Given the description of an element on the screen output the (x, y) to click on. 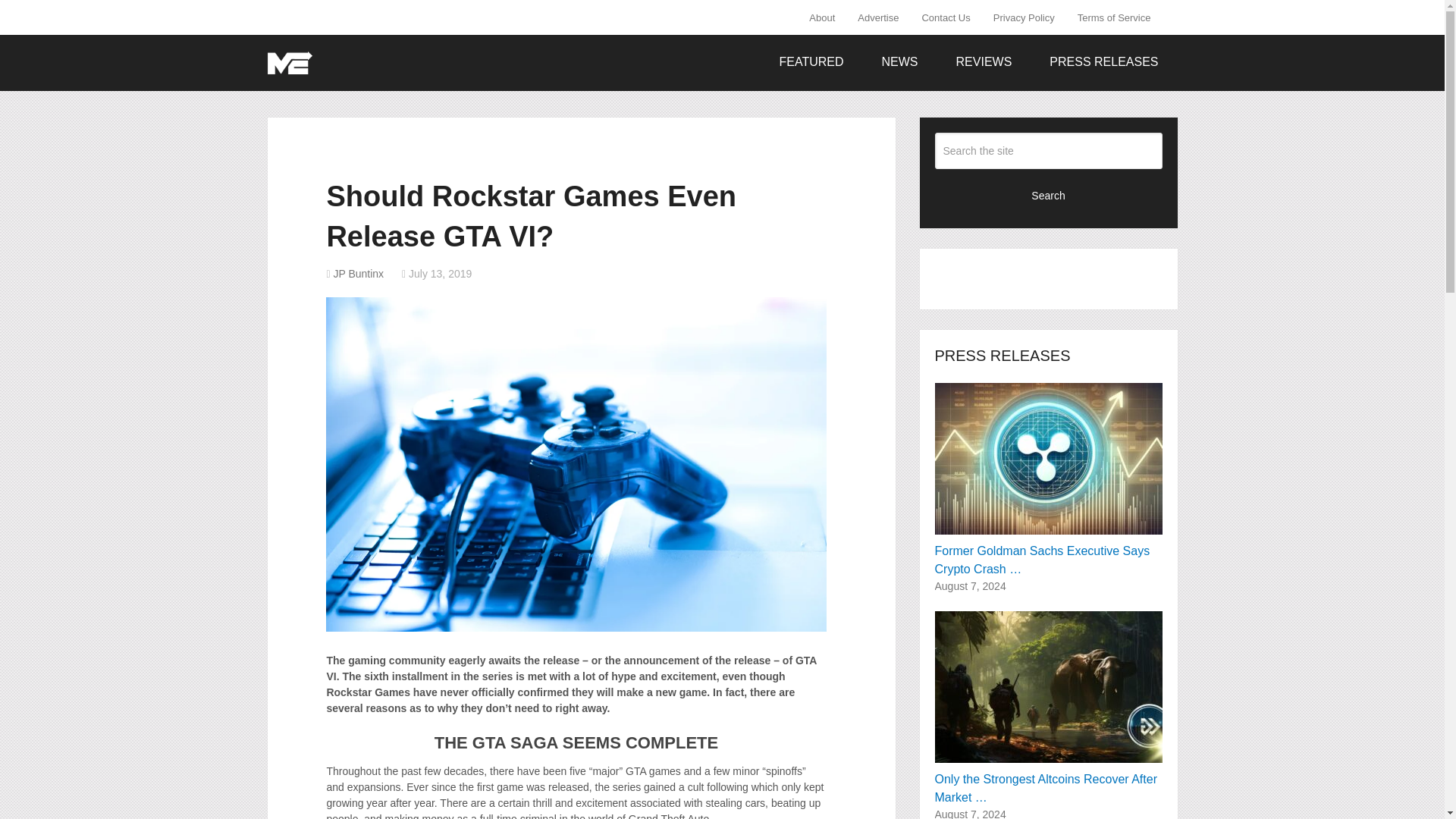
Advertise (877, 17)
PRESS RELEASES (1103, 62)
NEWS (900, 62)
FEATURED (810, 62)
About (827, 17)
Search (1047, 194)
Terms of Service (1113, 17)
Privacy Policy (1023, 17)
JP Buntinx (358, 273)
Contact Us (945, 17)
